Given the description of an element on the screen output the (x, y) to click on. 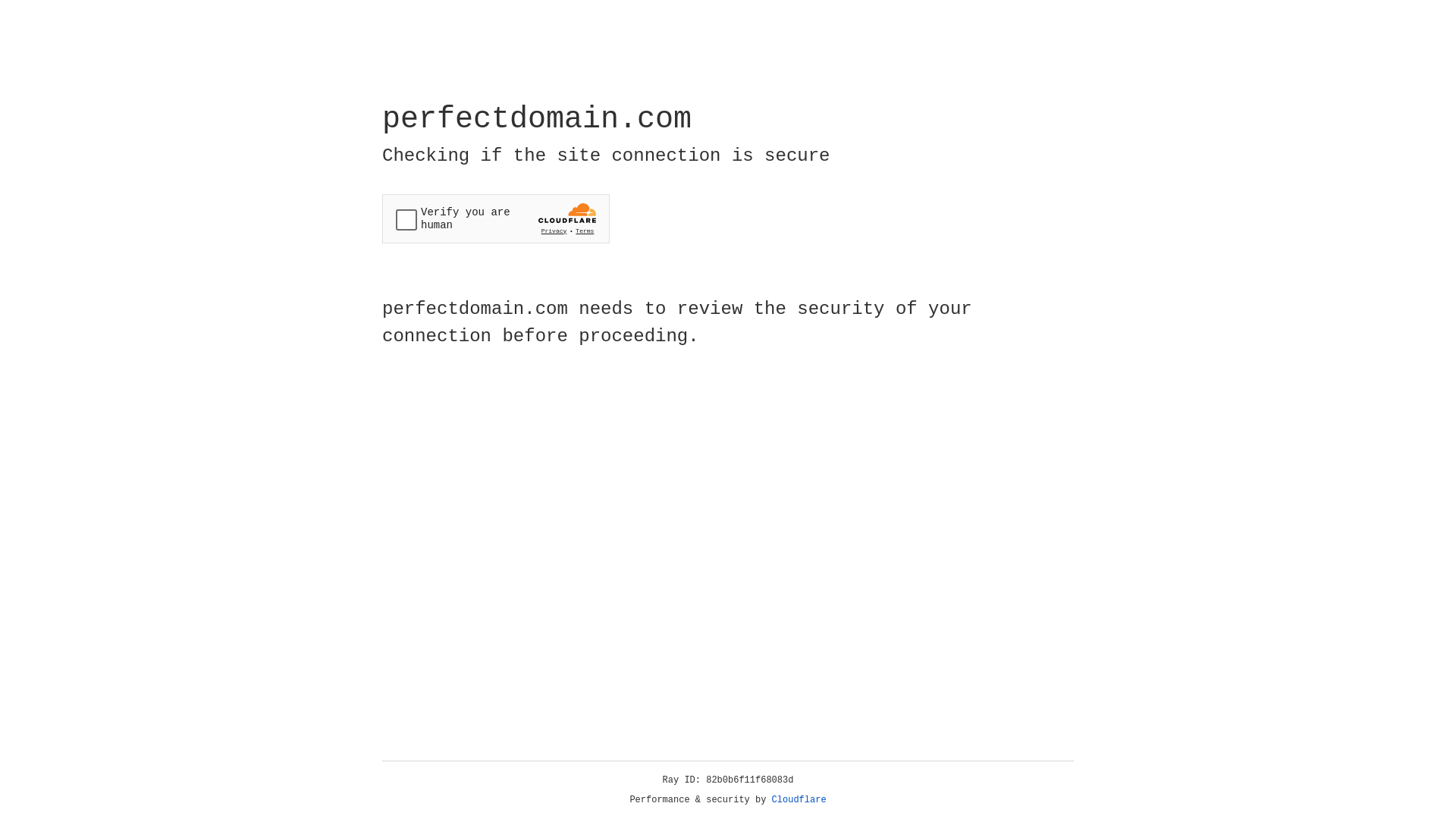
Widget containing a Cloudflare security challenge Element type: hover (495, 218)
Cloudflare Element type: text (798, 799)
